Given the description of an element on the screen output the (x, y) to click on. 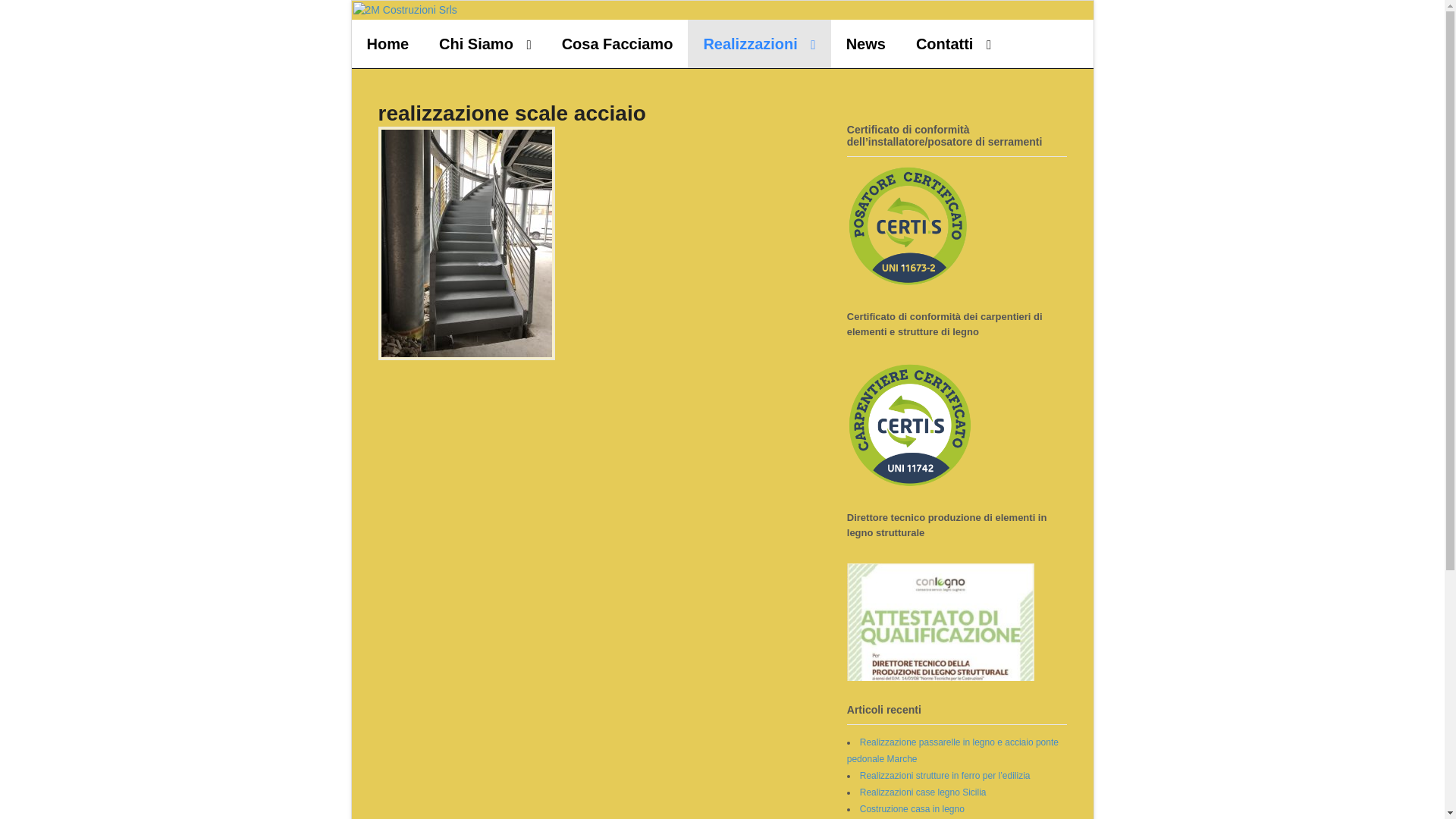
progettazione e realizzazione case in legno Element type: hover (405, 9)
News Element type: text (865, 43)
Home Element type: text (387, 43)
Cosa Facciamo Element type: text (617, 43)
Costruzione casa in legno Element type: text (911, 808)
Contatti Element type: text (953, 43)
Realizzazioni Element type: text (758, 43)
Realizzazioni case legno Sicilia Element type: text (922, 792)
Chi Siamo Element type: text (484, 43)
